Given the description of an element on the screen output the (x, y) to click on. 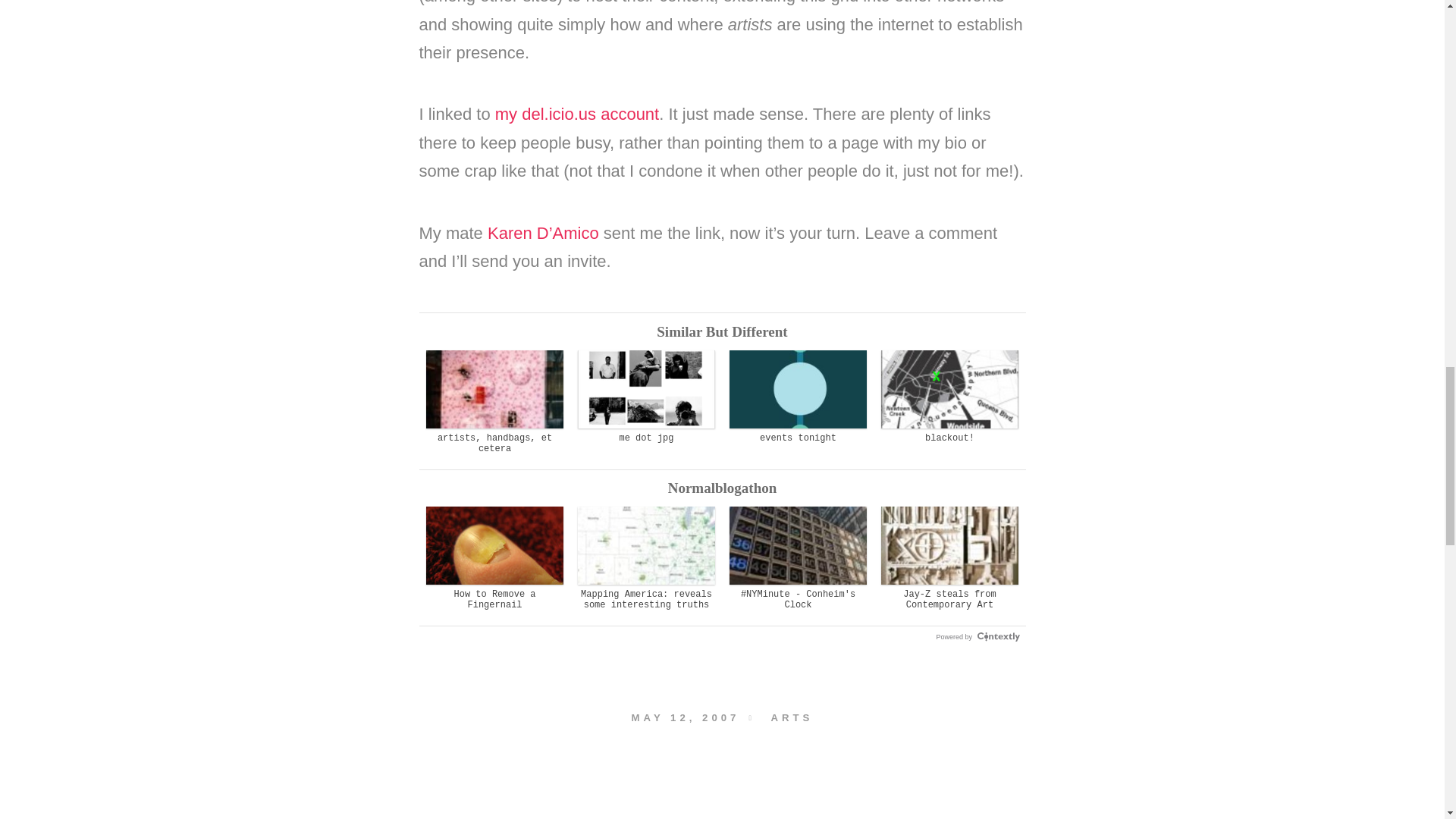
events tonight (797, 396)
my del.icio.us account (577, 113)
Mapping America: reveals some interesting truths (646, 558)
blackout! (948, 396)
blackout! (948, 396)
artists, handbags, et cetera (494, 402)
ARTS (791, 717)
How to Remove a Fingernail (494, 558)
How to Remove a Fingernail (494, 558)
events tonight (797, 396)
me dot jpg (646, 396)
View all posts in arts (791, 717)
Mapping America: reveals some interesting truths (646, 558)
artists, handbags, et cetera (494, 402)
Jay-Z steals from Contemporary Art (948, 558)
